Given the description of an element on the screen output the (x, y) to click on. 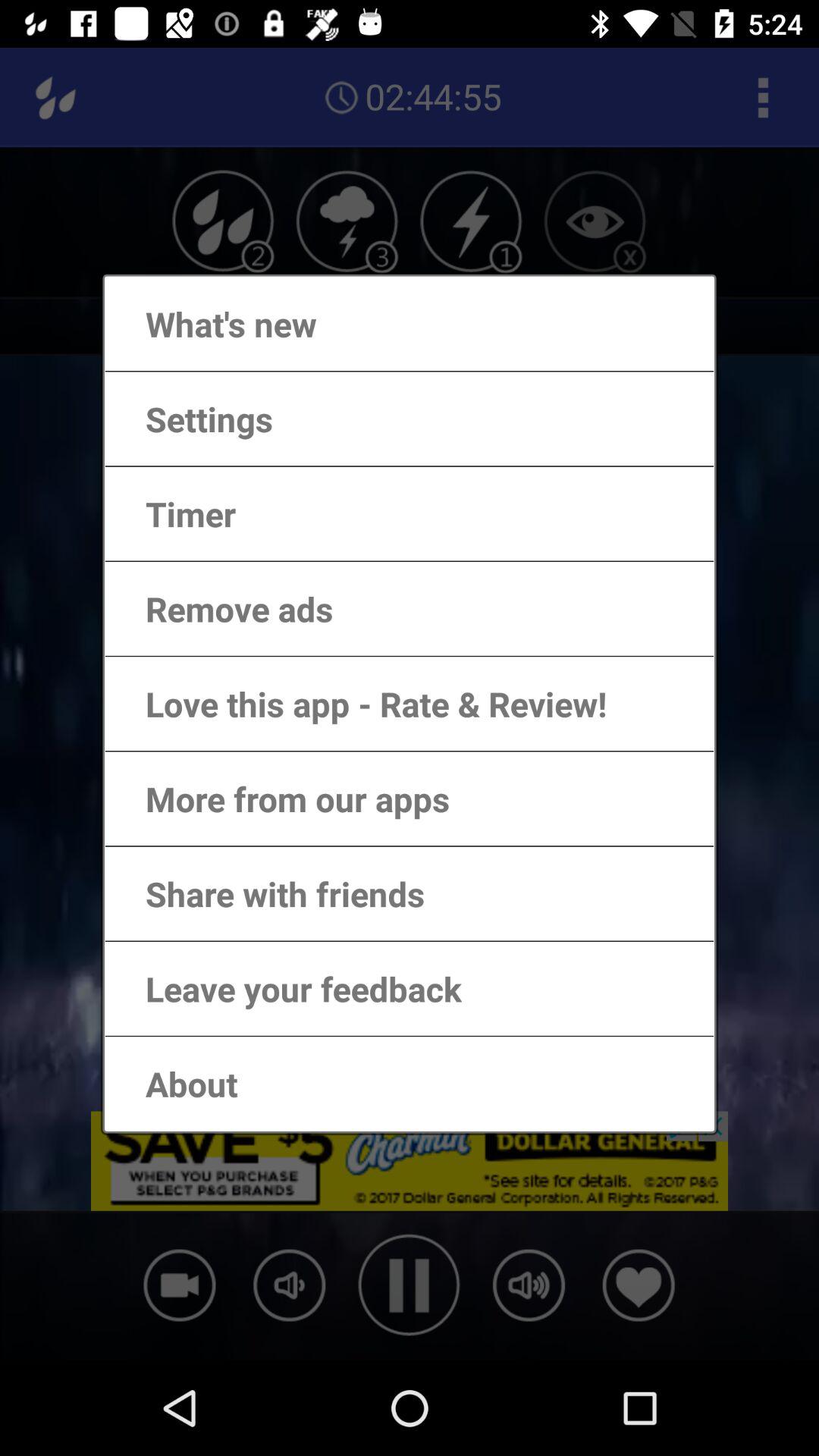
tap the leave your feedback item (288, 988)
